Given the description of an element on the screen output the (x, y) to click on. 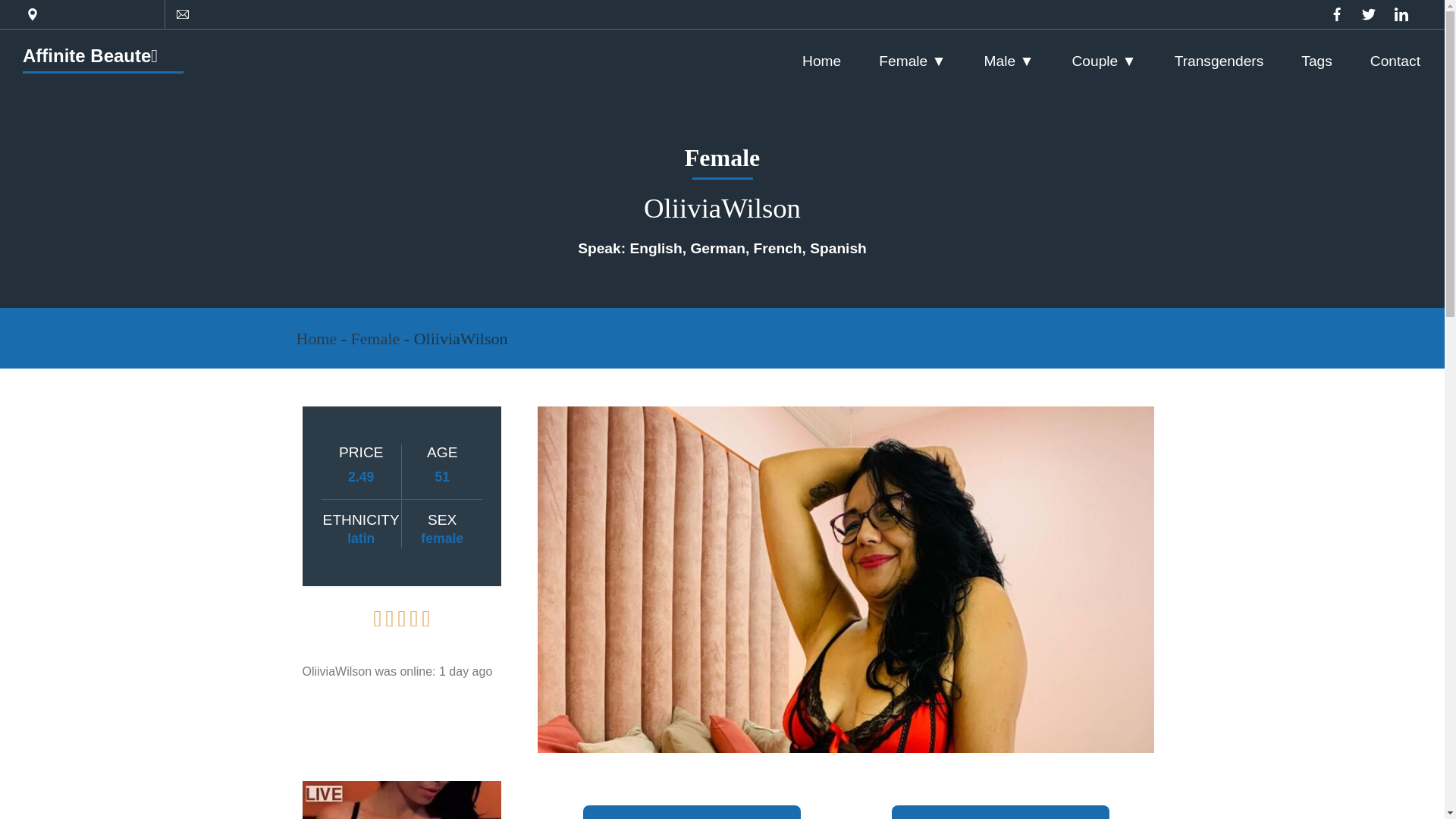
Home (315, 338)
London (189, 14)
Couple ? (1103, 61)
Transgenders (1218, 61)
Transgenders (1218, 61)
Female ? (911, 61)
Affinite Beaute?? (90, 55)
Female (375, 338)
